Given the description of an element on the screen output the (x, y) to click on. 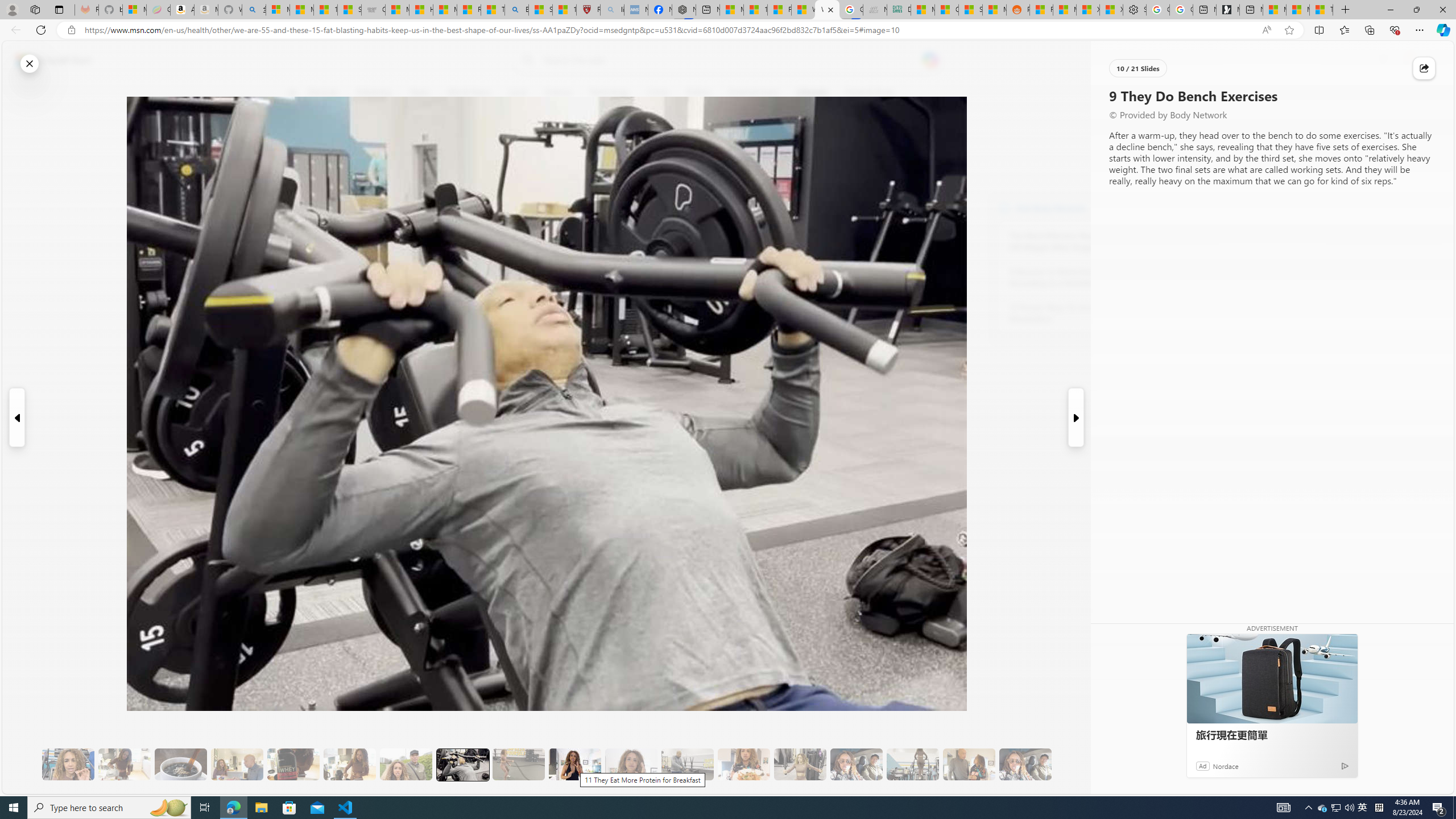
15 They Also Indulge in a Low-Calorie Sweet Treat (800, 764)
R******* | Trusted Community Engagement and Contributions (1041, 9)
18 It's More Fun Doing It with Someone Else (968, 764)
How I Got Rid of Microsoft Edge's Unnecessary Features (421, 9)
10 Then, They Do HIIT Cardio (518, 764)
12 Proven Ways To Increase Your Metabolism (1071, 313)
3 They Drink Lemon Tea (124, 764)
